Given the description of an element on the screen output the (x, y) to click on. 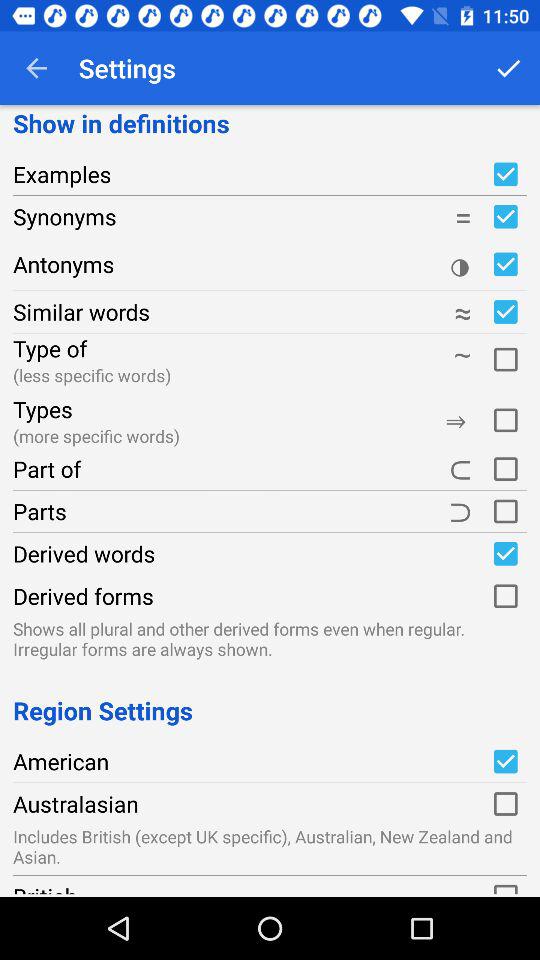
toggle derived forms (505, 596)
